Given the description of an element on the screen output the (x, y) to click on. 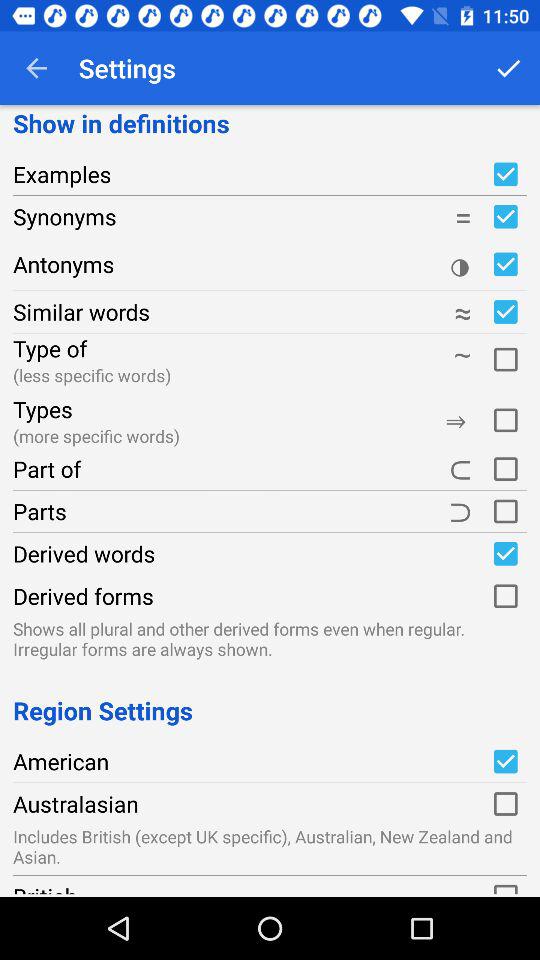
toggle derived forms (505, 596)
